Given the description of an element on the screen output the (x, y) to click on. 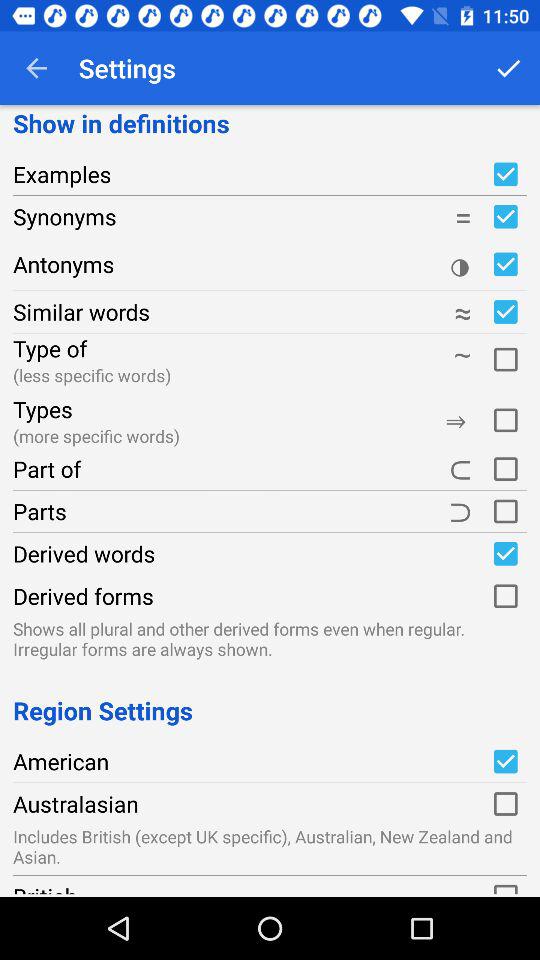
toggle derived forms (505, 596)
